Given the description of an element on the screen output the (x, y) to click on. 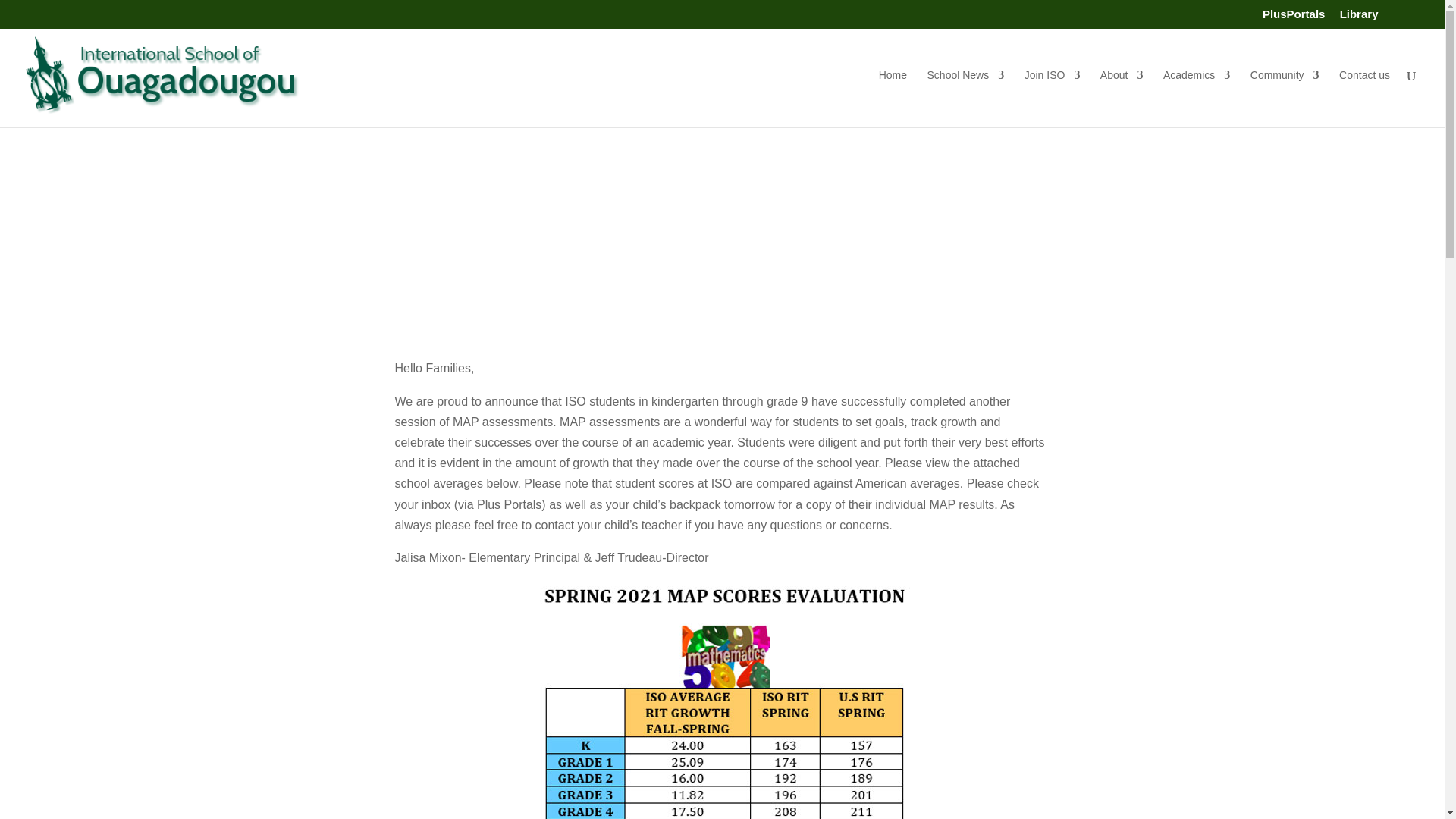
School News (965, 98)
Join ISO (1052, 98)
Academics (1196, 98)
PlusPortals (1293, 17)
Library (1358, 17)
